Given the description of an element on the screen output the (x, y) to click on. 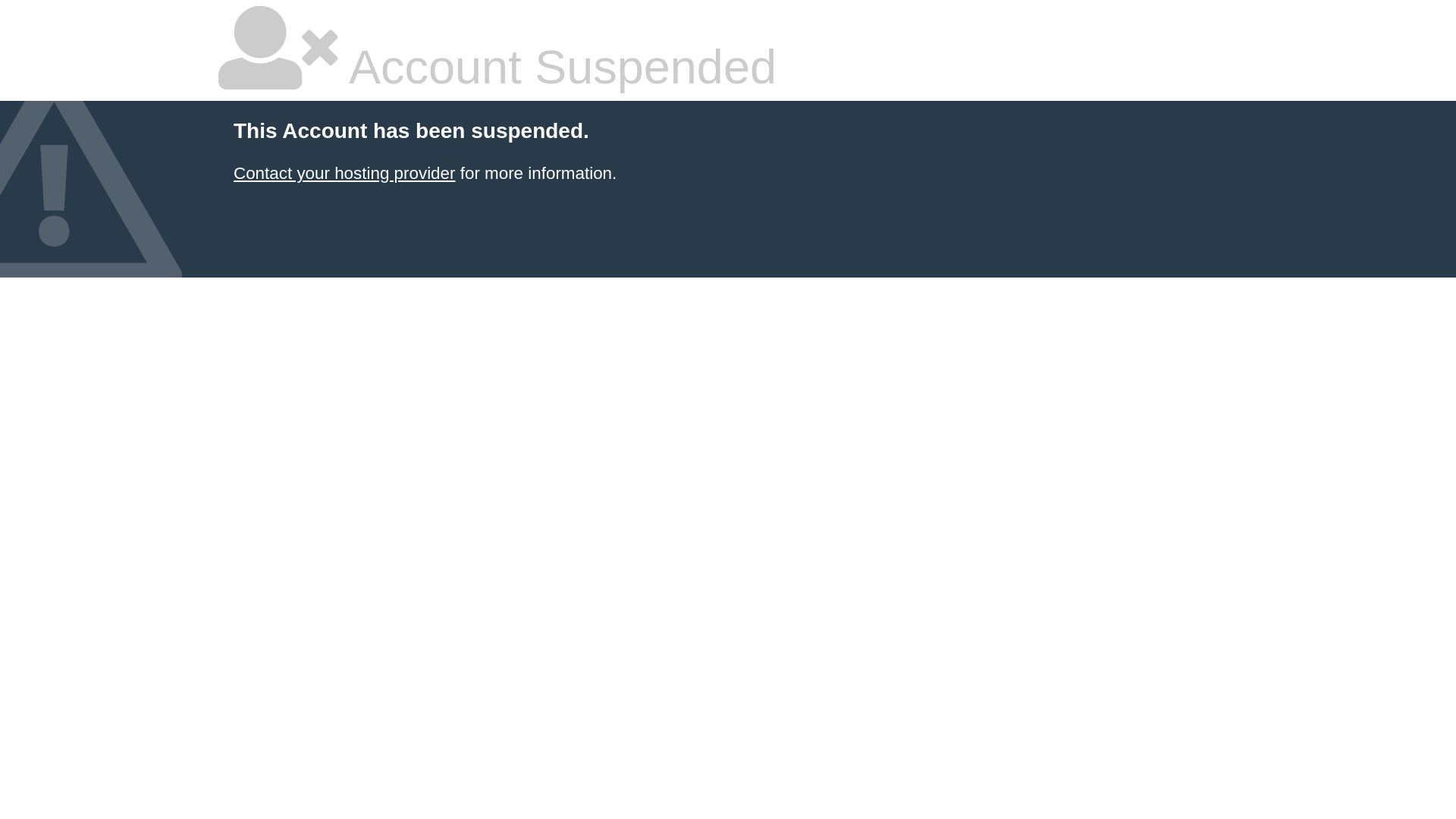
Contact your hosting provider Element type: text (344, 172)
